Given the description of an element on the screen output the (x, y) to click on. 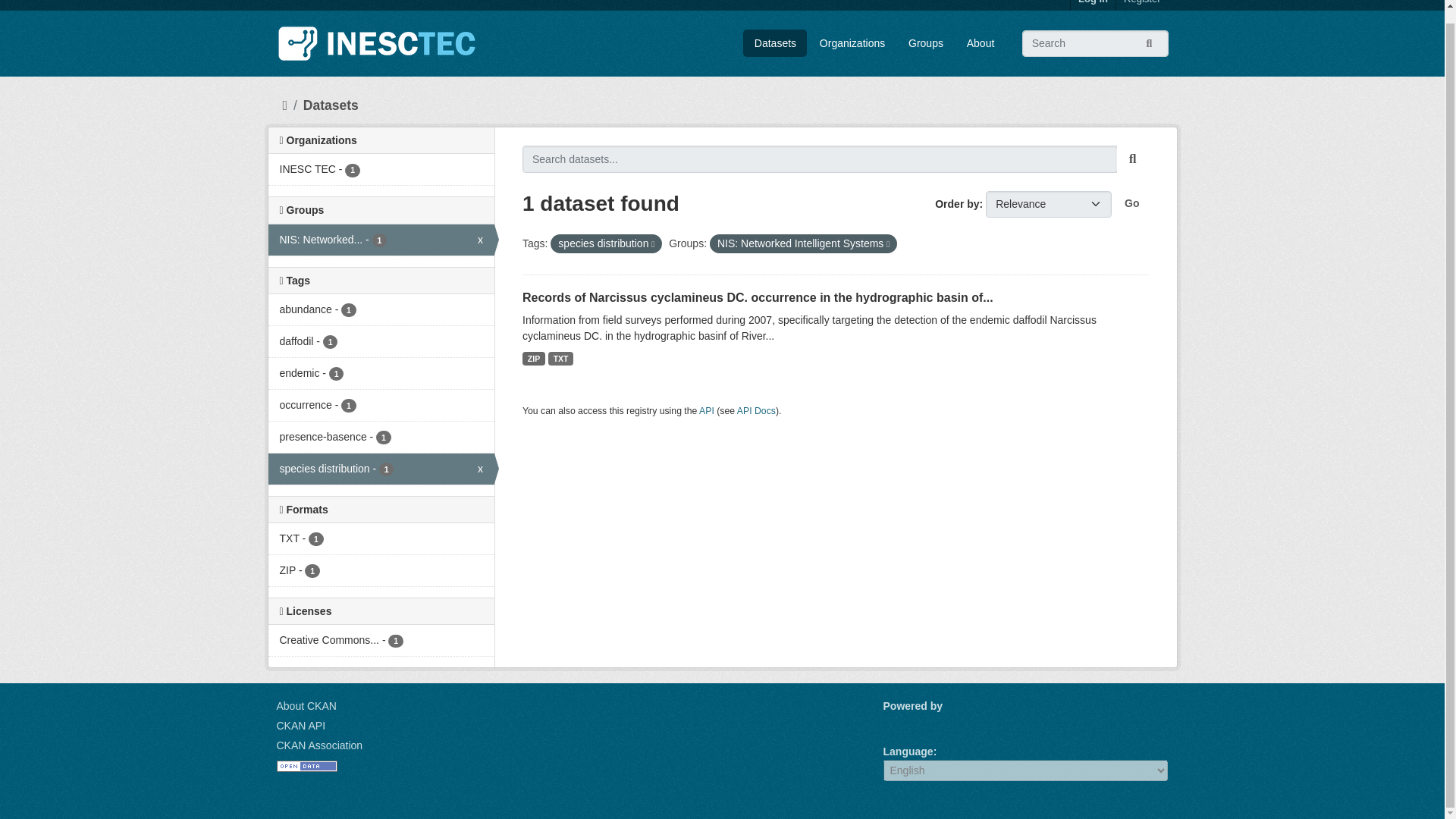
Go (1131, 203)
search (1133, 158)
CKAN Association (319, 745)
INESC TEC - 1 (381, 169)
API Docs (756, 410)
Groups (381, 468)
About (926, 42)
TXT - 1 (381, 239)
